Given the description of an element on the screen output the (x, y) to click on. 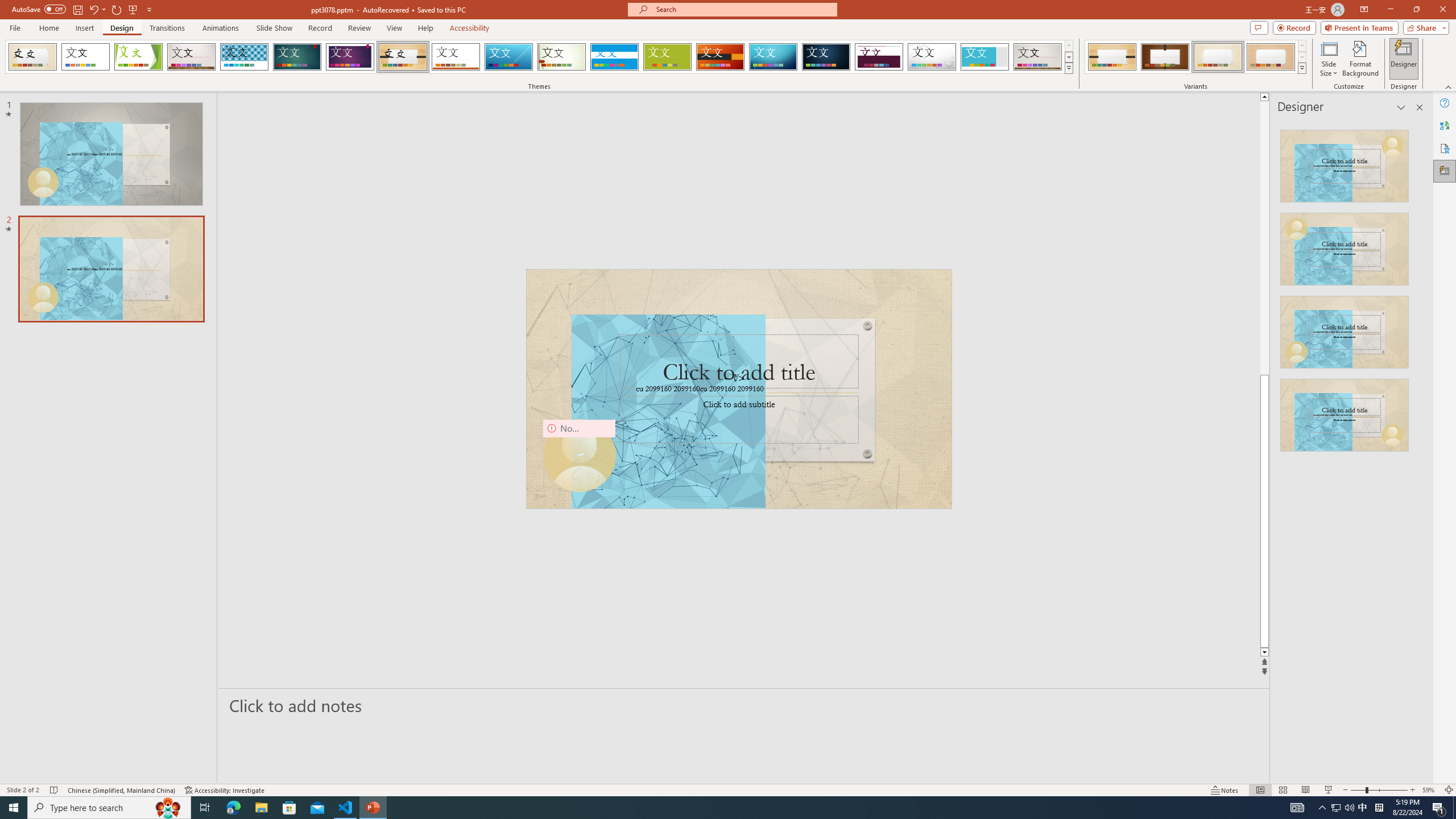
Banded (614, 56)
Organic Variant 1 (1112, 56)
Organic Variant 3 (1217, 56)
